Given the description of an element on the screen output the (x, y) to click on. 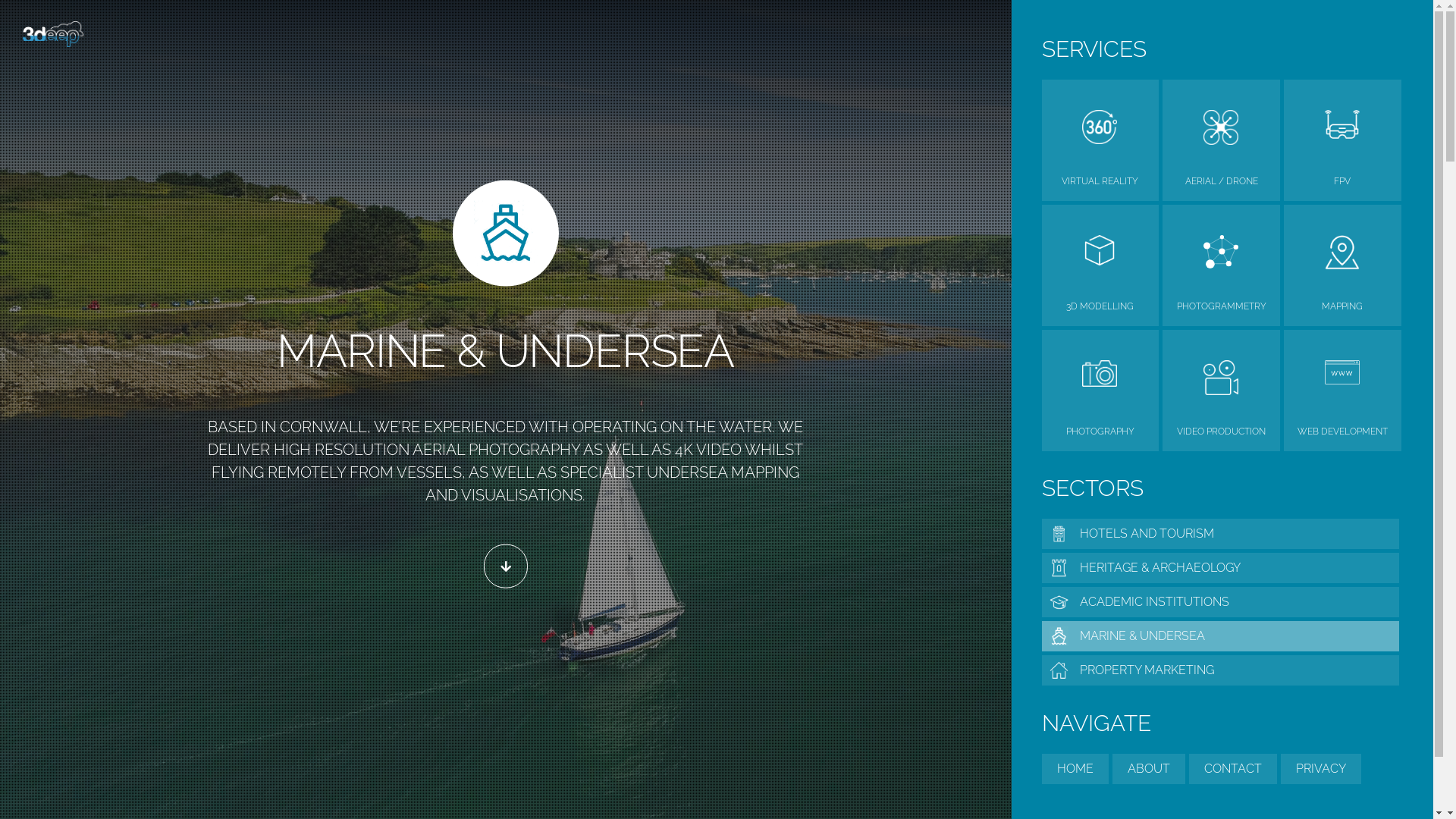
  Element type: text (505, 566)
PHOTOGRAMMETRY Element type: text (1221, 306)
PRIVACY Element type: text (1320, 768)
VIDEO PRODUCTION Element type: text (1221, 430)
PROPERTY MARKETING Element type: text (1220, 670)
HERITAGE & ARCHAEOLOGY Element type: text (1220, 567)
AERIAL / DRONE Element type: text (1221, 180)
PHOTOGRAPHY Element type: text (1100, 430)
CONTACT Element type: text (1233, 768)
ABOUT Element type: text (1147, 768)
HOME Element type: text (1074, 768)
HOTELS AND TOURISM Element type: text (1220, 533)
ACADEMIC INSTITUTIONS Element type: text (1220, 601)
MARINE & UNDERSEA Element type: text (1220, 636)
MAPPING Element type: text (1342, 306)
3D MODELLING Element type: text (1100, 306)
VIRTUAL REALITY Element type: text (1100, 180)
WEB DEVELOPMENT Element type: text (1342, 430)
FPV Element type: text (1342, 180)
